Given the description of an element on the screen output the (x, y) to click on. 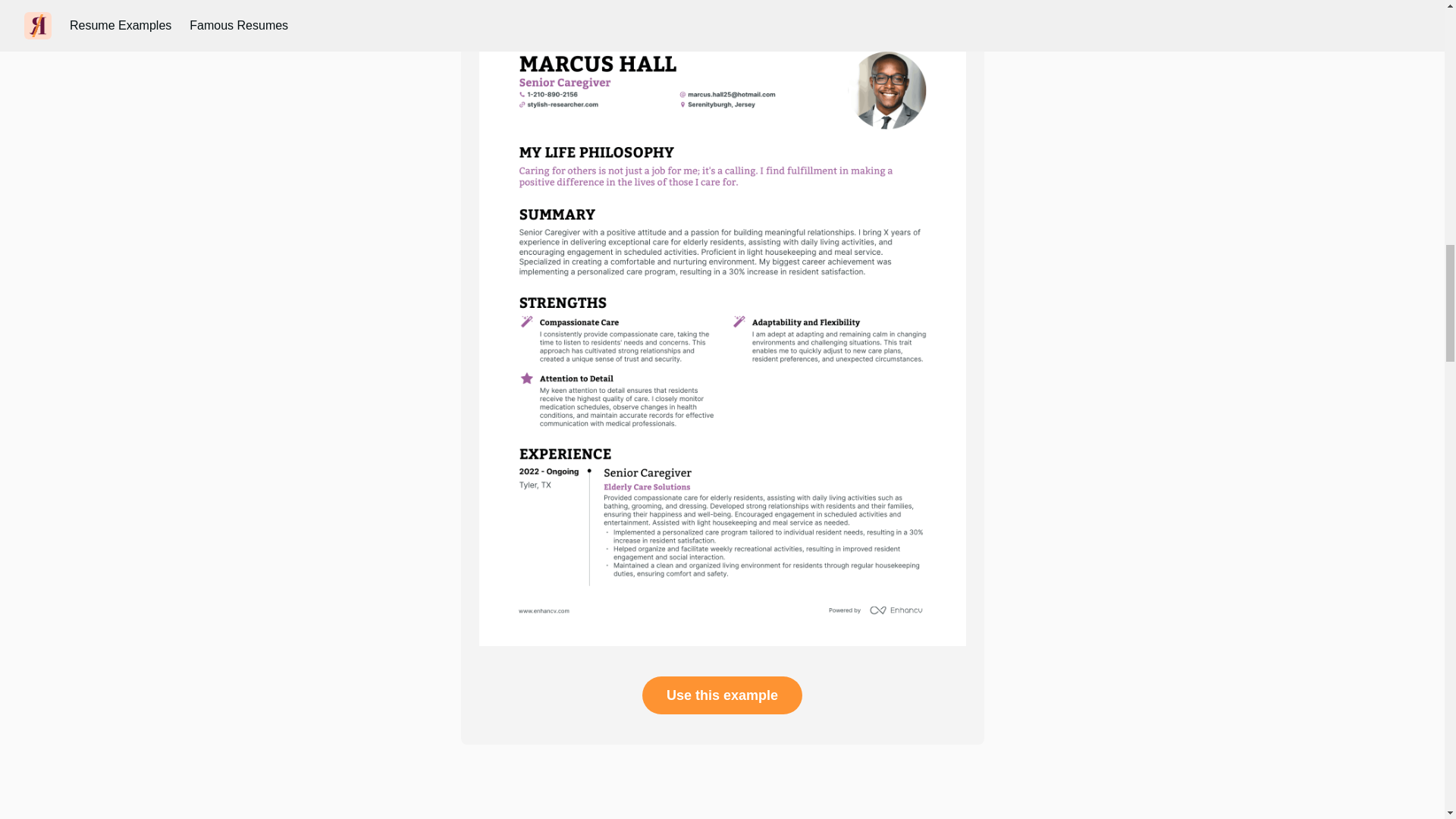
Use this example (722, 695)
